Given the description of an element on the screen output the (x, y) to click on. 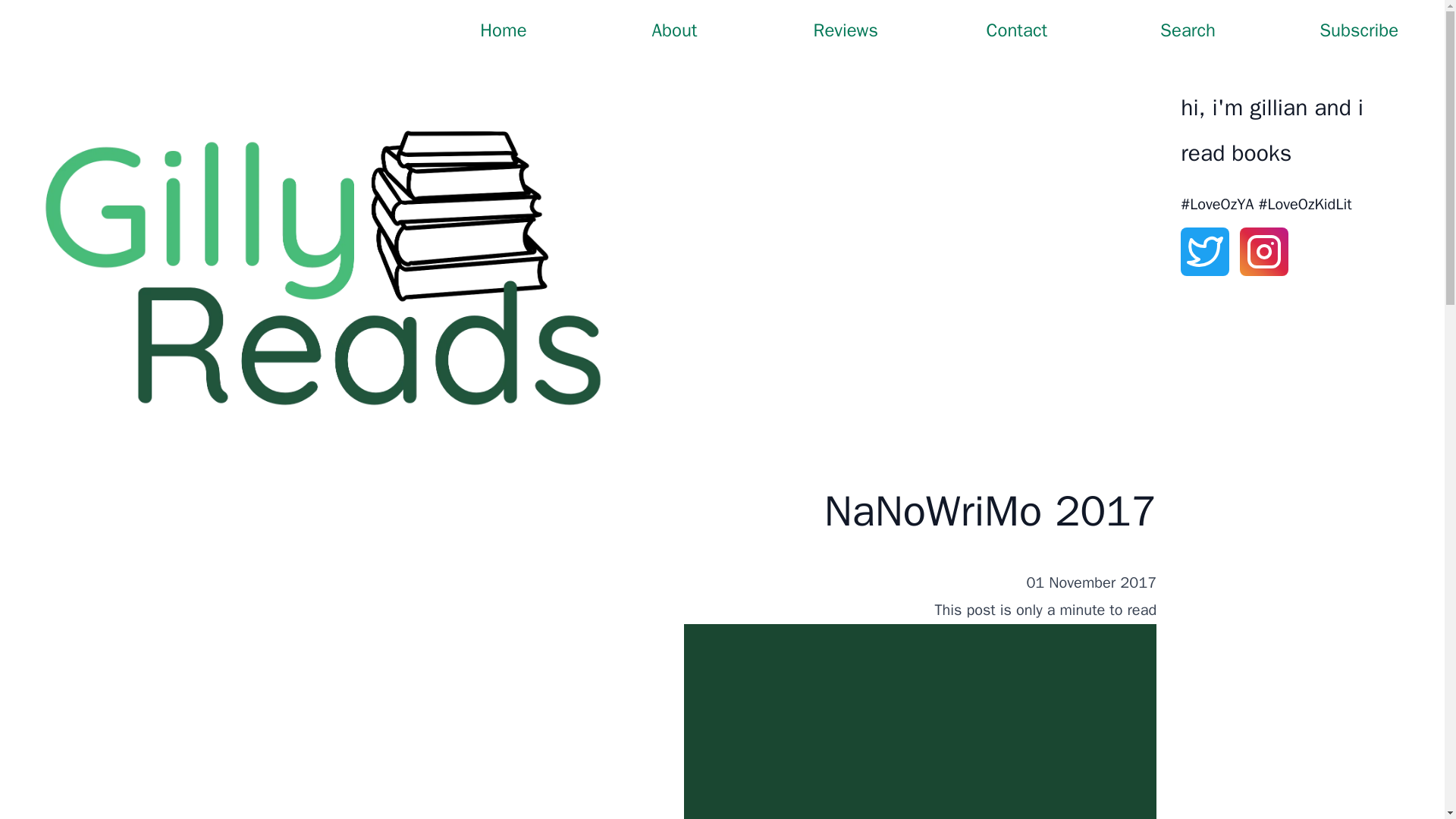
About (674, 30)
Contact (1016, 30)
Search (1188, 30)
Home (503, 30)
Reviews (845, 30)
